Given the description of an element on the screen output the (x, y) to click on. 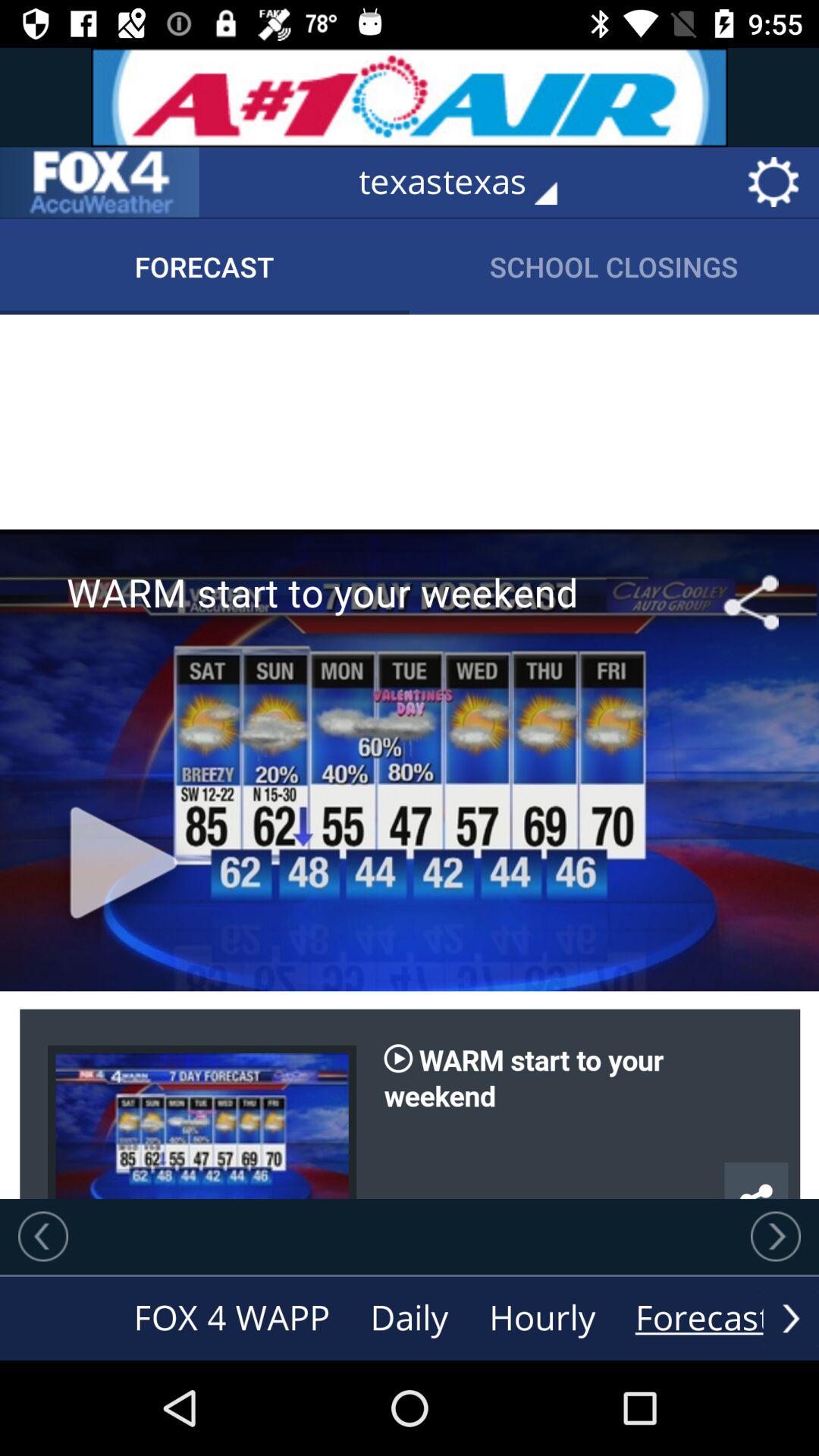
go forward (775, 1236)
